Given the description of an element on the screen output the (x, y) to click on. 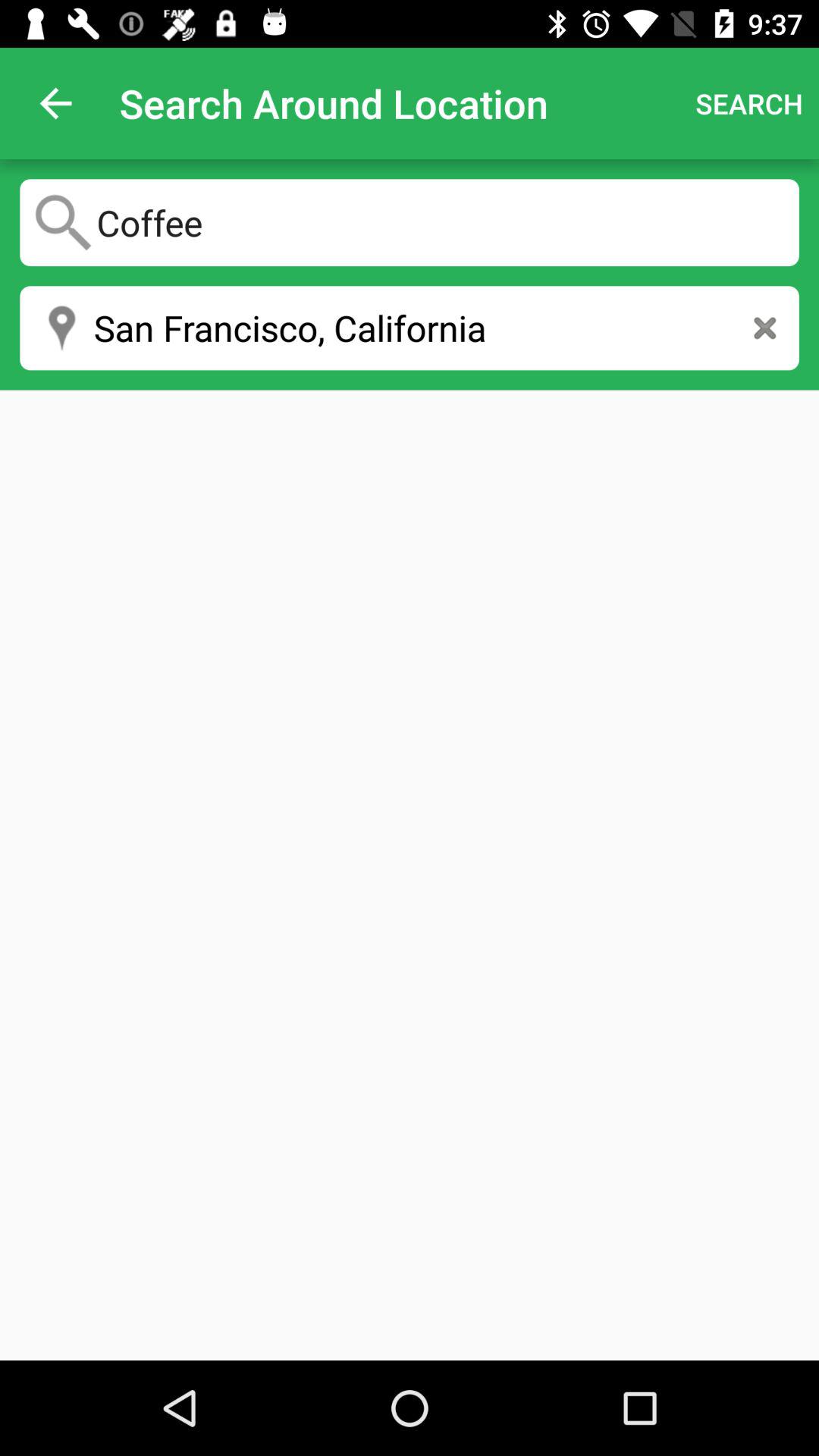
scroll until the san francisco, california icon (409, 328)
